Given the description of an element on the screen output the (x, y) to click on. 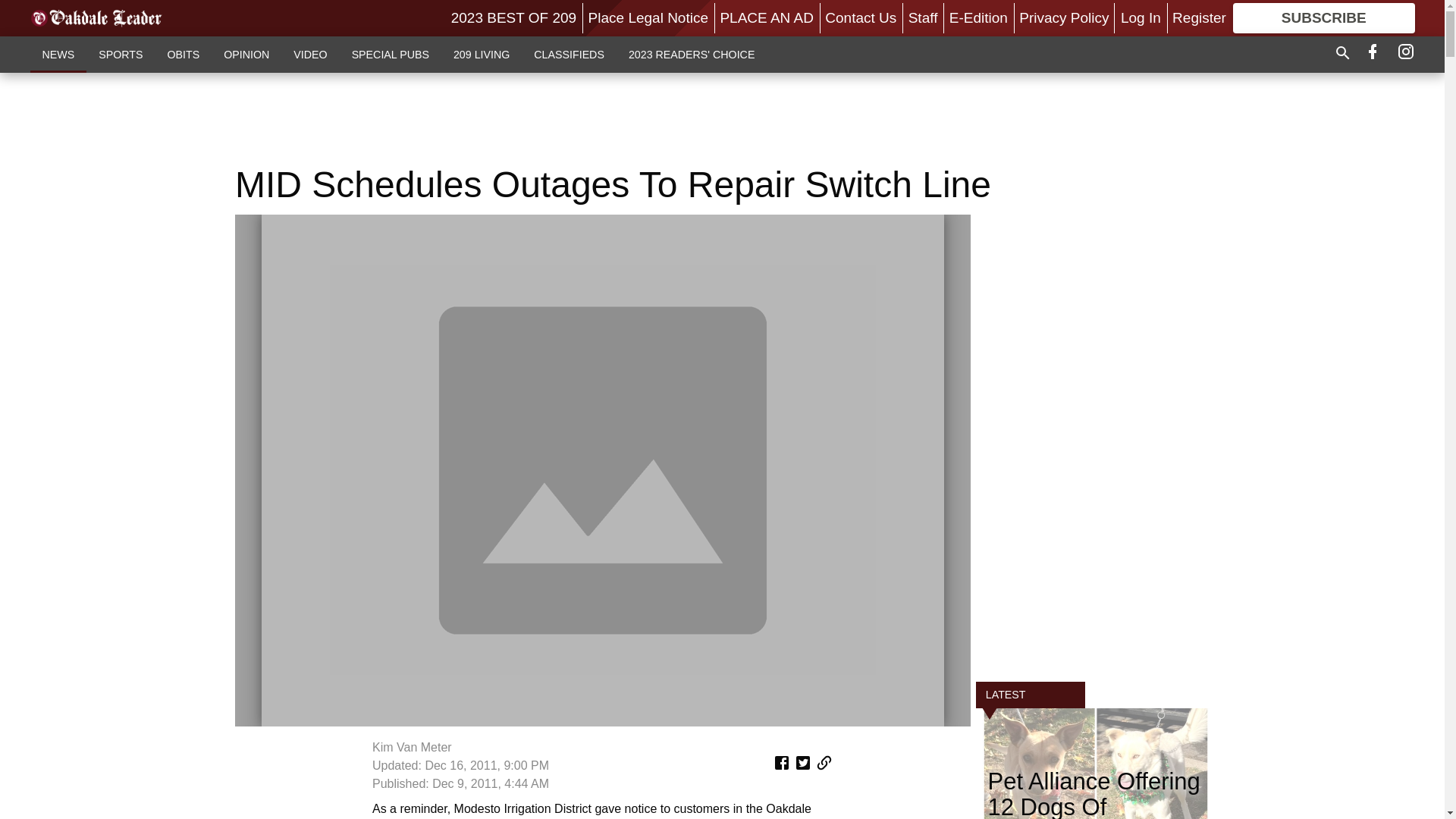
SPORTS (119, 54)
CLASSIFIEDS (568, 54)
2023 BEST OF 209 (513, 17)
OBITS (182, 54)
Place Legal Notice (647, 17)
PLACE AN AD (766, 17)
SUBSCRIBE (1324, 18)
3rd party ad content (1095, 441)
2023 READERS' CHOICE (691, 54)
OPINION (246, 54)
3rd party ad content (721, 119)
VIDEO (310, 54)
Log In (1140, 17)
Contact Us (860, 17)
NEWS (58, 54)
